Given the description of an element on the screen output the (x, y) to click on. 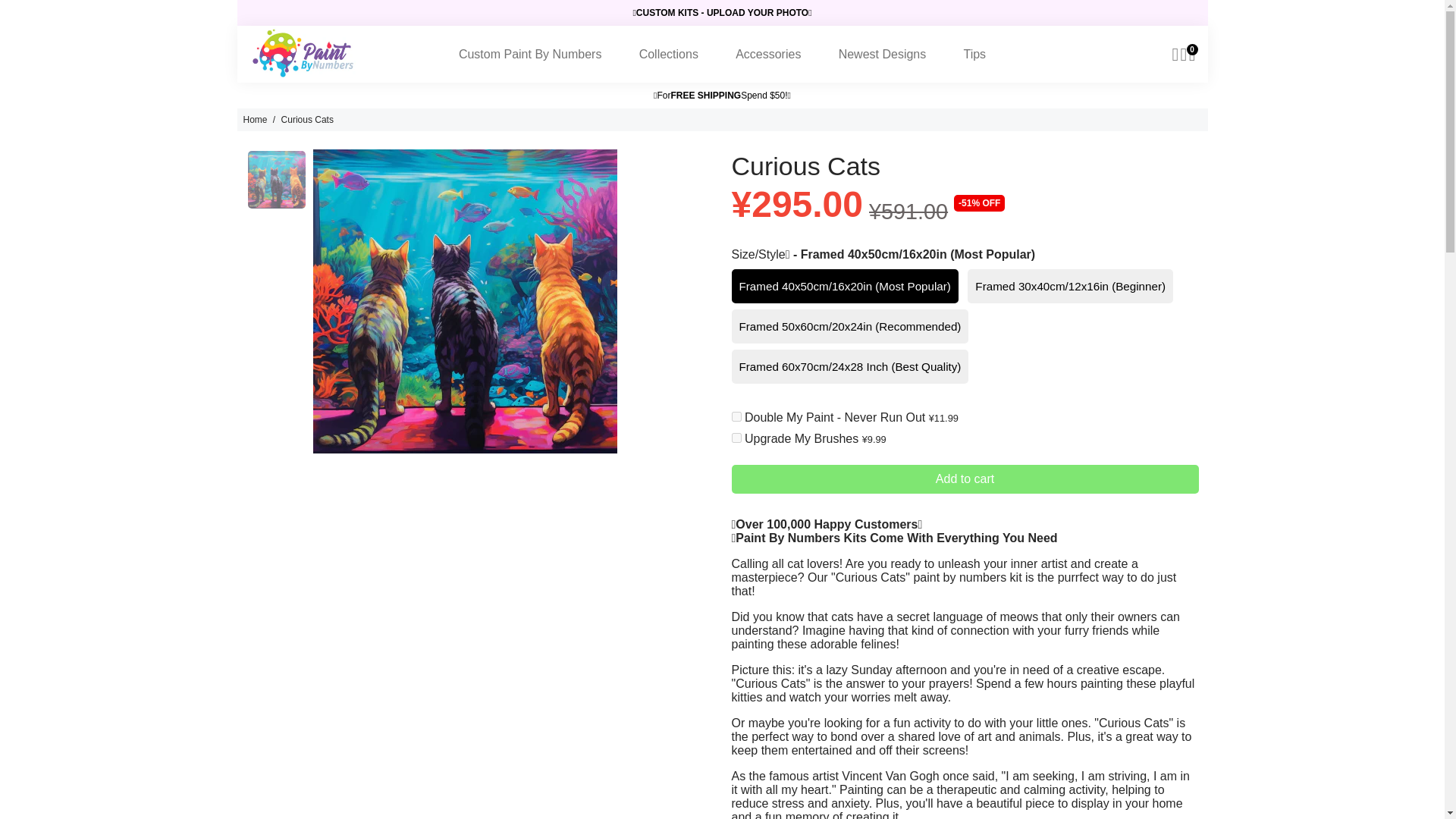
Home (254, 119)
Accessories (767, 53)
Newest Designs (883, 53)
on (735, 416)
Tips (974, 53)
Home (254, 119)
Collections (668, 53)
Custom Paint By Numbers (529, 53)
Add to cart (964, 479)
on (735, 438)
